Given the description of an element on the screen output the (x, y) to click on. 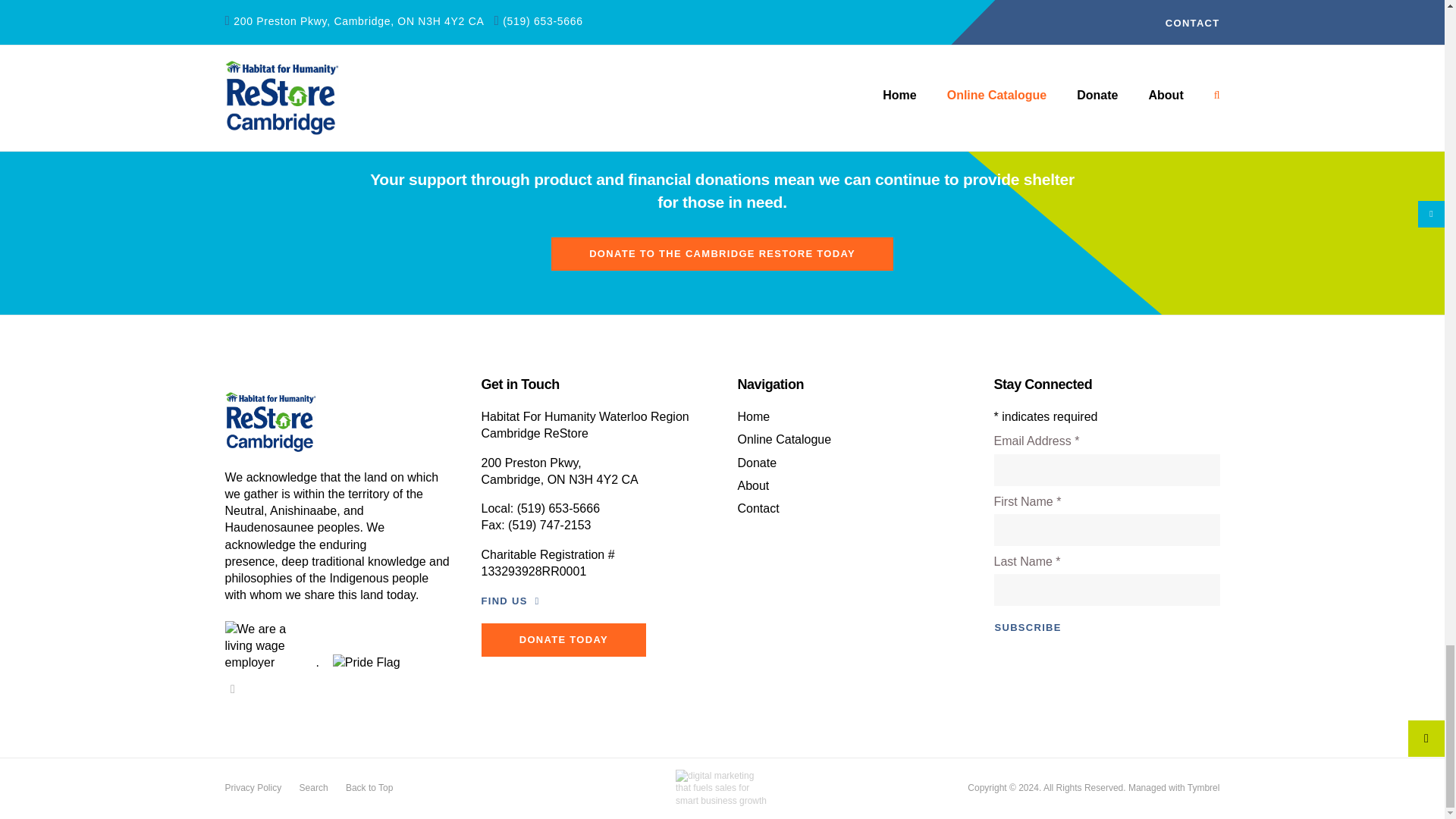
Subscribe (1026, 627)
